Given the description of an element on the screen output the (x, y) to click on. 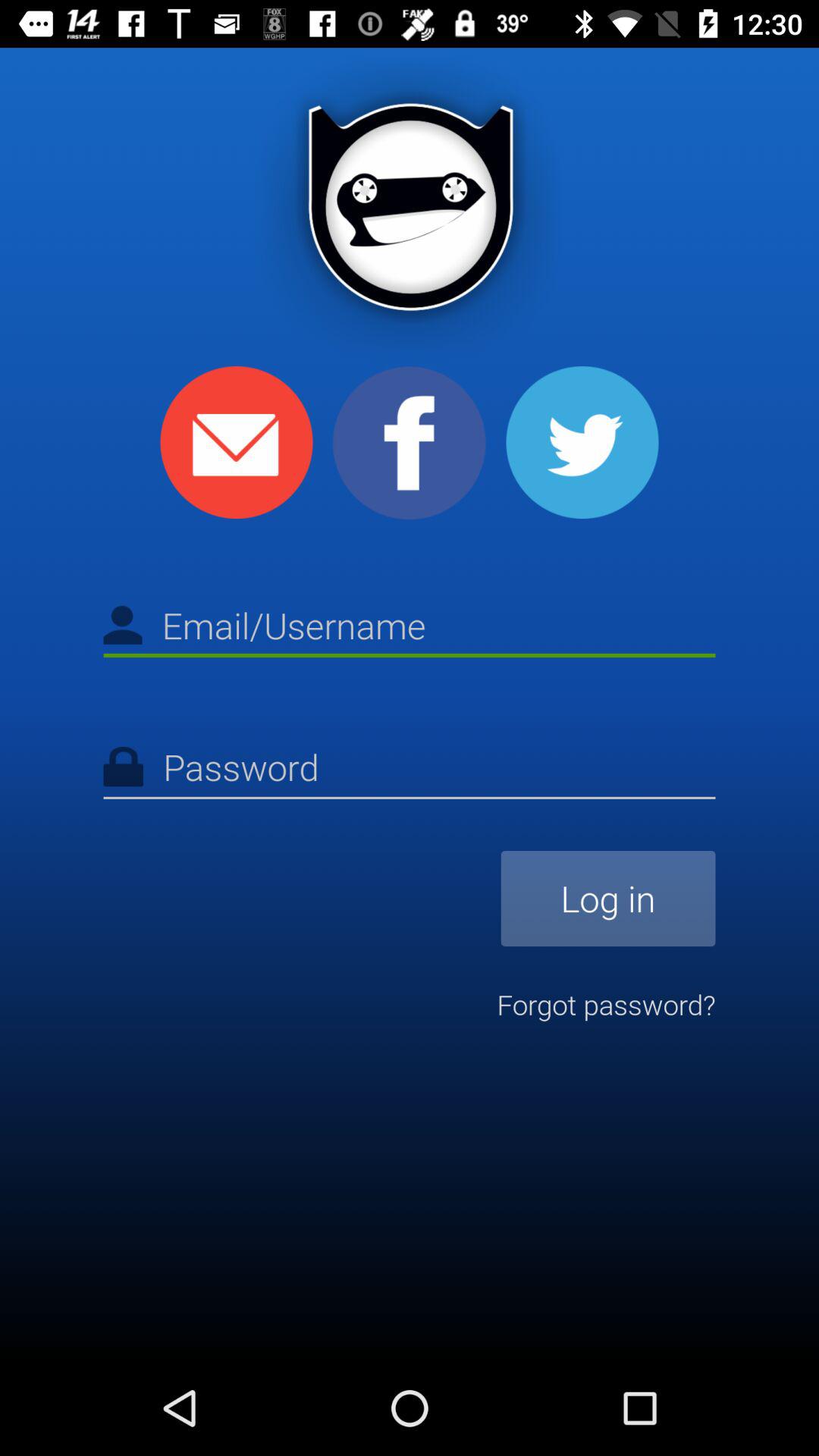
facebook button (409, 442)
